Given the description of an element on the screen output the (x, y) to click on. 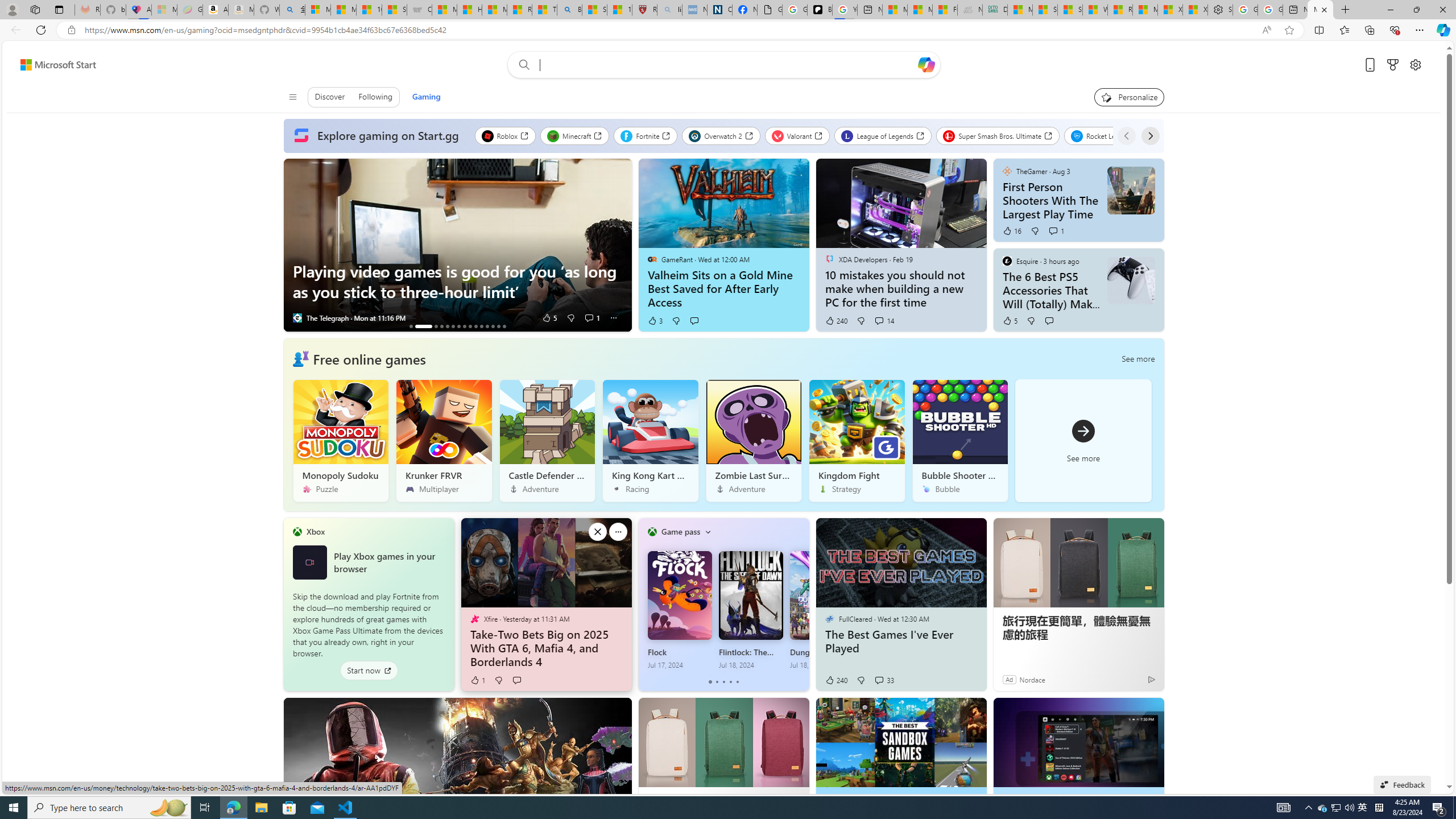
How Rust Can Be Played Solo (504, 326)
Following (374, 96)
4 telltale signs that it's time to upgrade your PC (486, 326)
Where Will Nvidia Stock Be in 3 Years? (441, 326)
Class: previous-flipper (644, 604)
Discover (329, 96)
AutomationID: tab_nativead-resinfopane-6 (452, 326)
Overwatch 2 (721, 135)
Asthma Inhalers: Names and Types (137, 9)
